Given the description of an element on the screen output the (x, y) to click on. 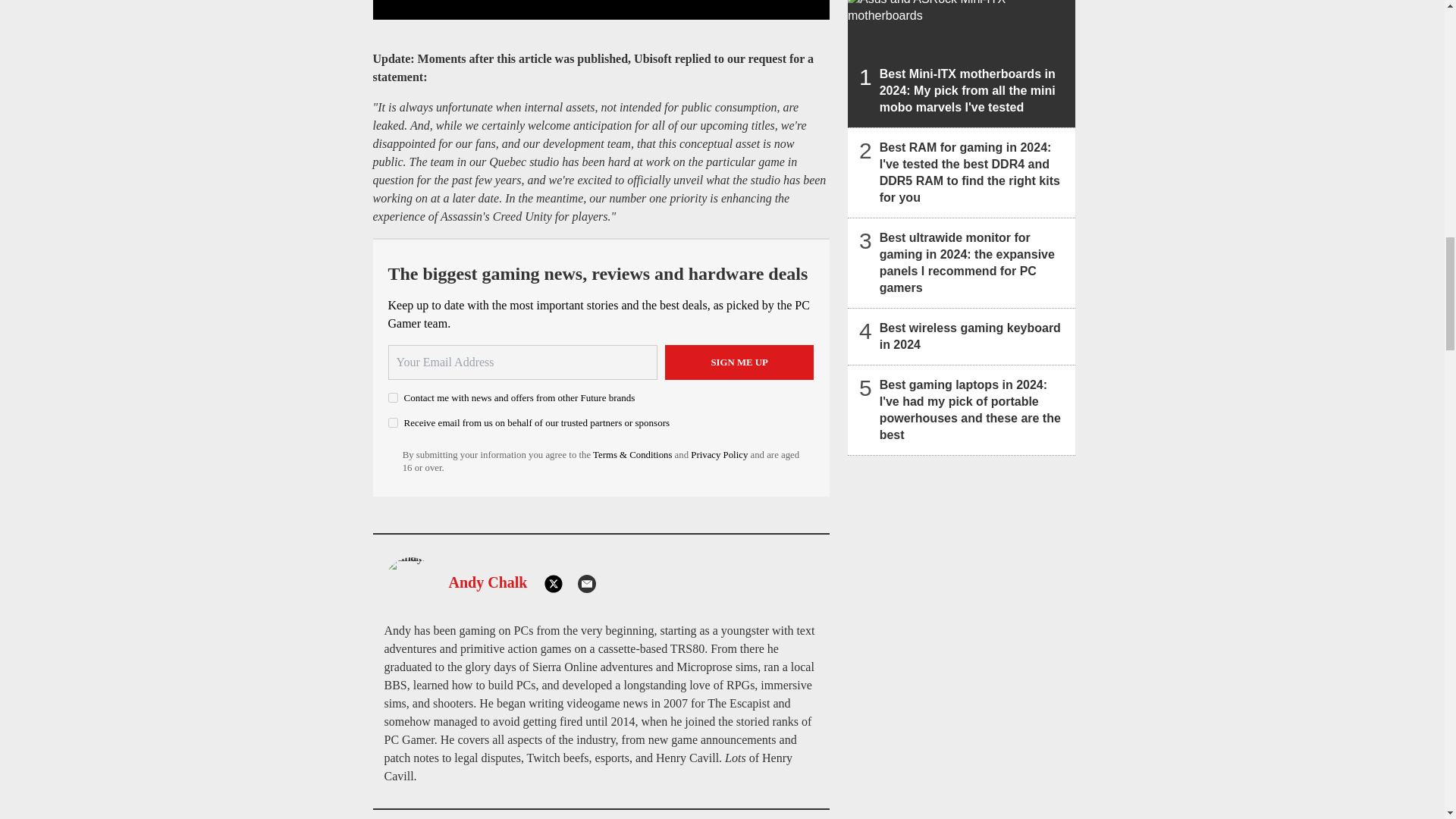
Sign me up (739, 362)
on (392, 397)
on (392, 422)
